Given the description of an element on the screen output the (x, y) to click on. 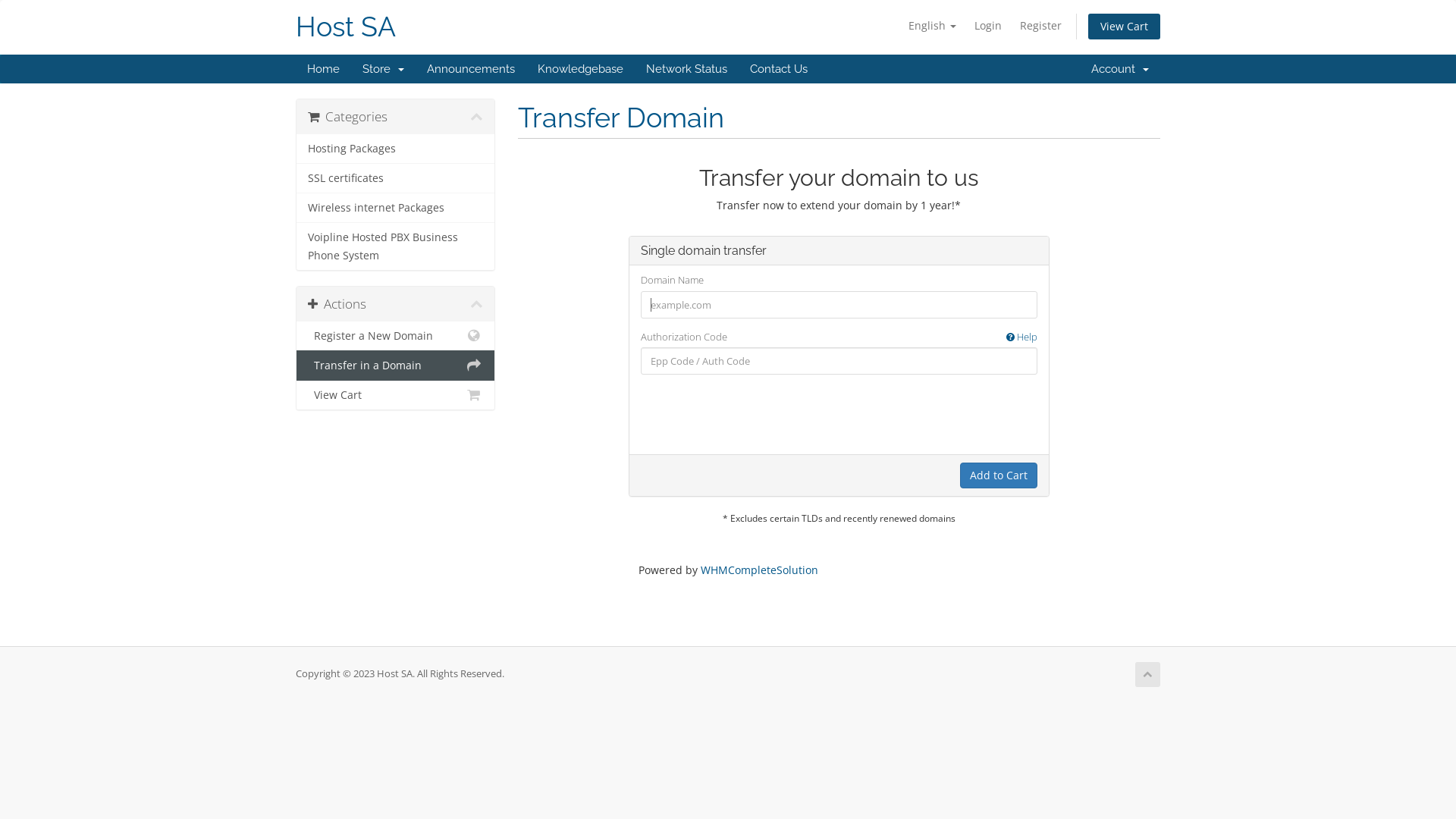
Announcements Element type: text (470, 68)
Contact Us Element type: text (778, 68)
Hosting Packages Element type: text (395, 148)
English Element type: text (931, 25)
Login Element type: text (987, 25)
Wireless internet Packages Element type: text (395, 207)
WHMCompleteSolution Element type: text (759, 569)
Knowledgebase Element type: text (580, 68)
  Transfer in a Domain Element type: text (395, 365)
  View Cart Element type: text (395, 394)
SSL certificates Element type: text (395, 178)
Account   Element type: text (1119, 68)
Host SA Element type: text (345, 26)
  Register a New Domain Element type: text (395, 336)
Register Element type: text (1040, 25)
Help Element type: text (1021, 336)
Store   Element type: text (383, 68)
Home Element type: text (323, 68)
Add to Cart Element type: text (998, 475)
Network Status Element type: text (686, 68)
Voipline Hosted PBX Business Phone System Element type: text (395, 245)
View Cart Element type: text (1124, 26)
